Given the description of an element on the screen output the (x, y) to click on. 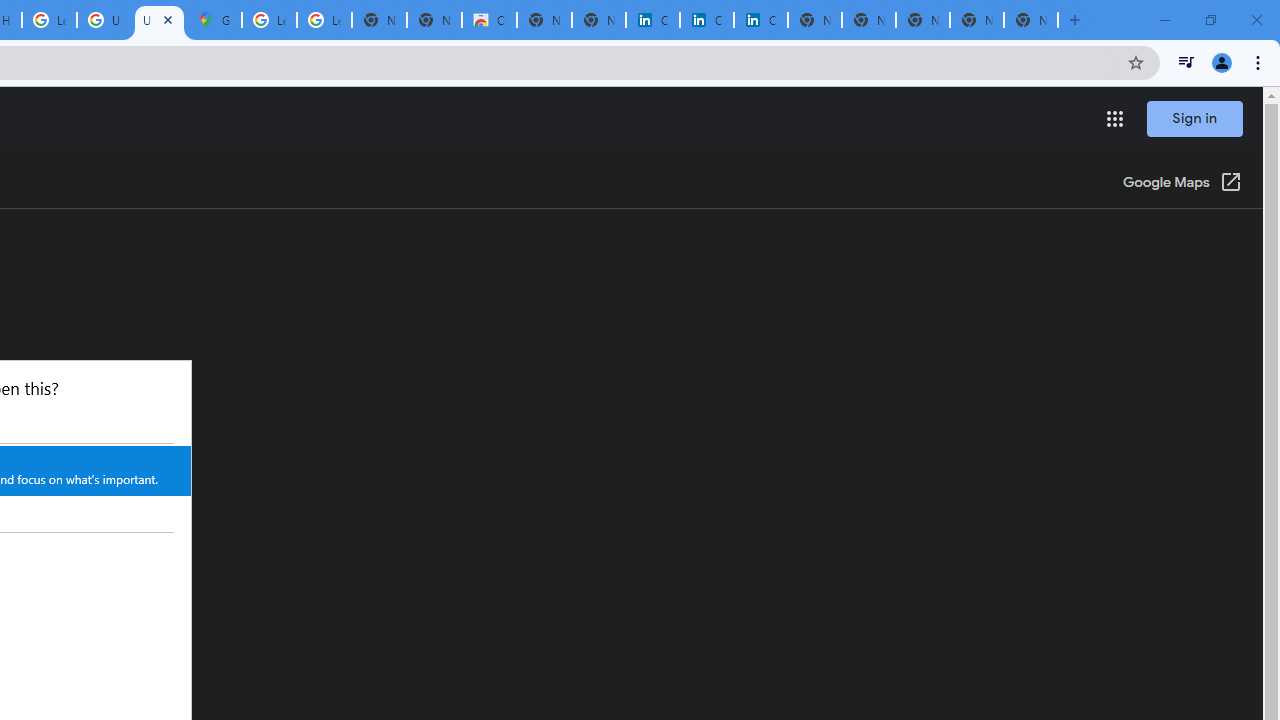
Copyright Policy (760, 20)
Chrome Web Store (489, 20)
Line up (182, 433)
Google Maps (Open in a new window) (1182, 183)
Google Maps (213, 20)
